Given the description of an element on the screen output the (x, y) to click on. 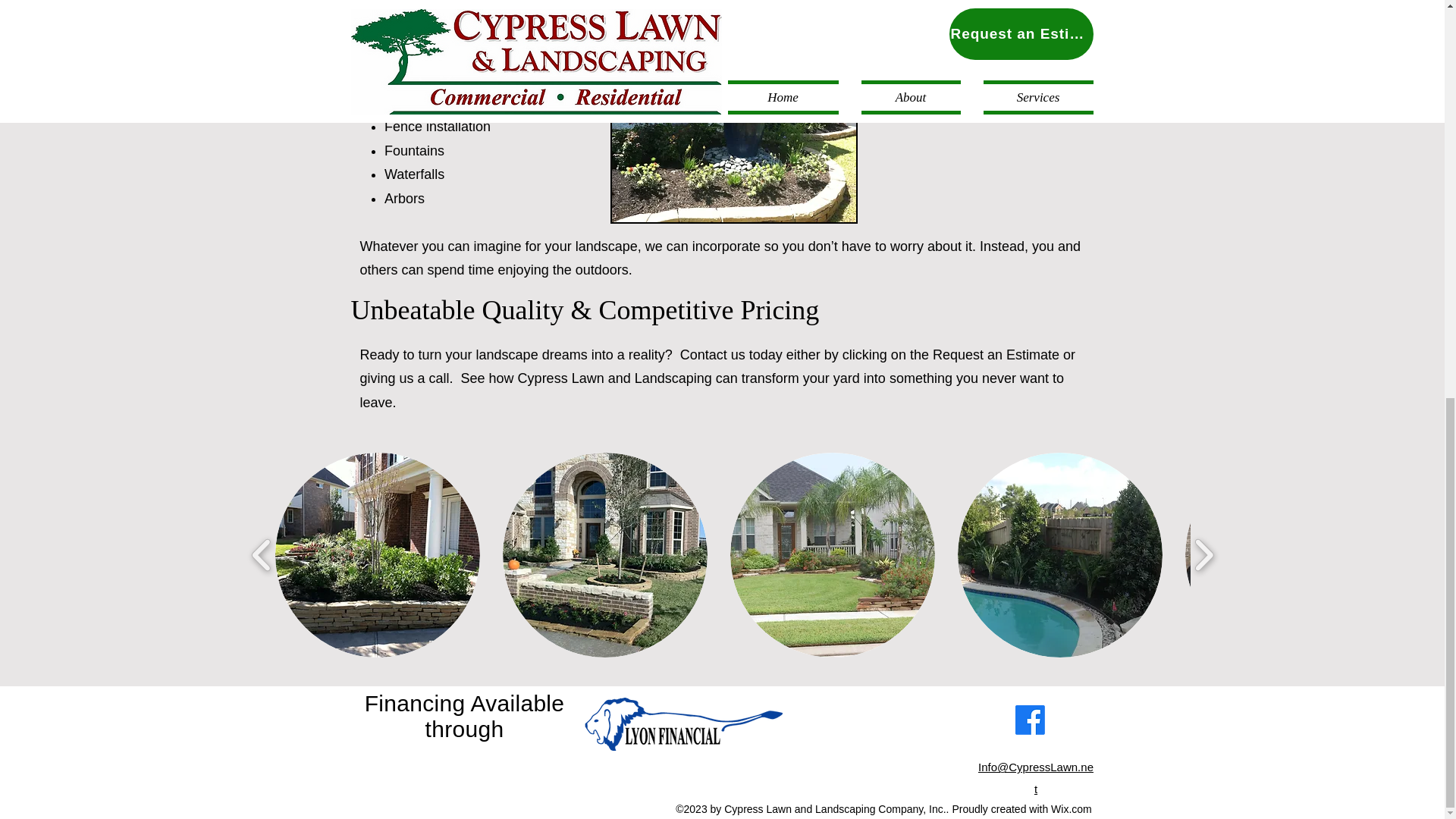
Apply Now (682, 723)
